Given the description of an element on the screen output the (x, y) to click on. 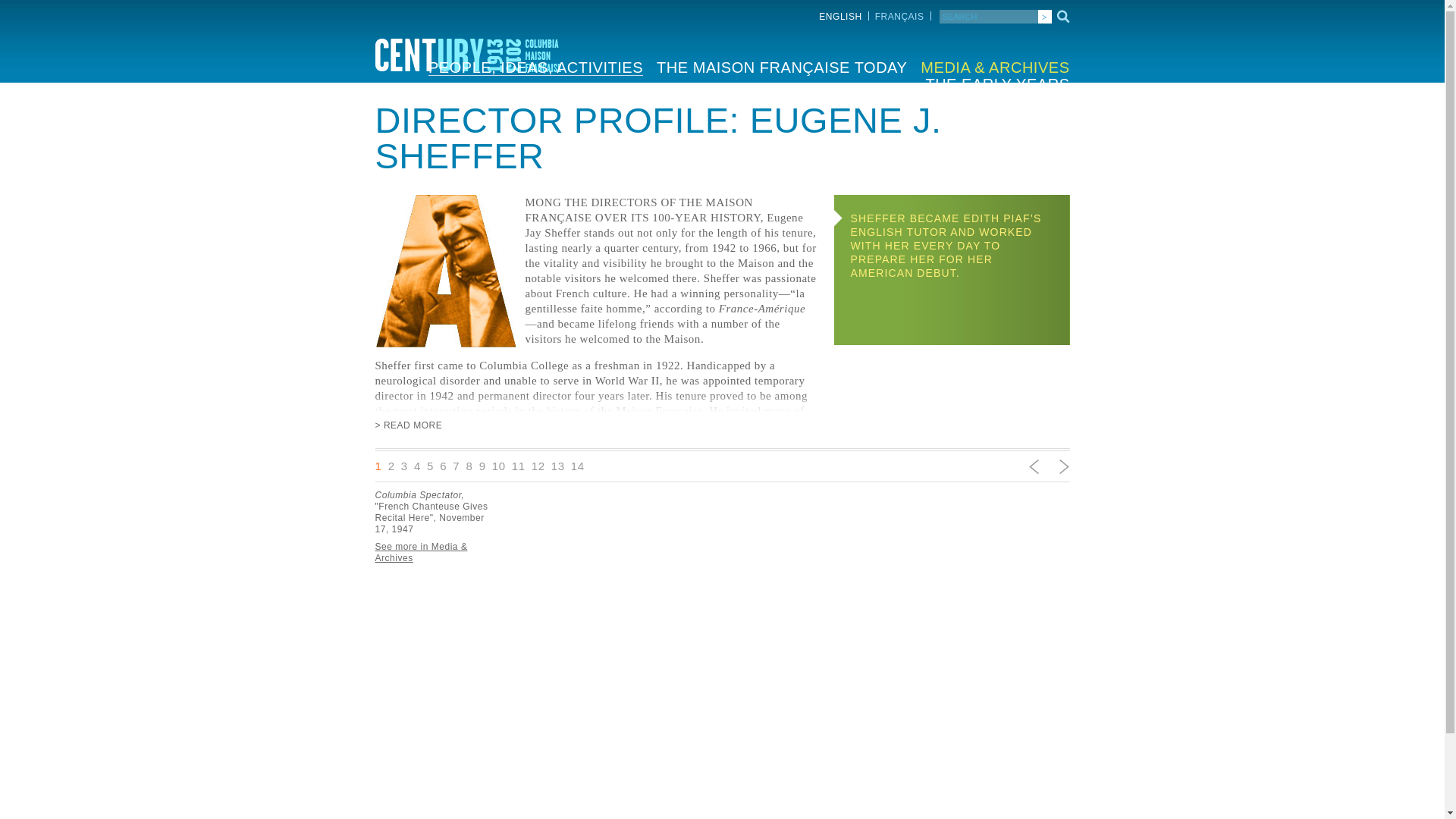
10 (498, 465)
SEARCH (987, 16)
THE EARLY YEARS (996, 83)
ENGLISH (839, 16)
PEOPLE, IDEAS, ACTIVITIES (535, 67)
11 (518, 465)
13 (557, 465)
12 (537, 465)
